Given the description of an element on the screen output the (x, y) to click on. 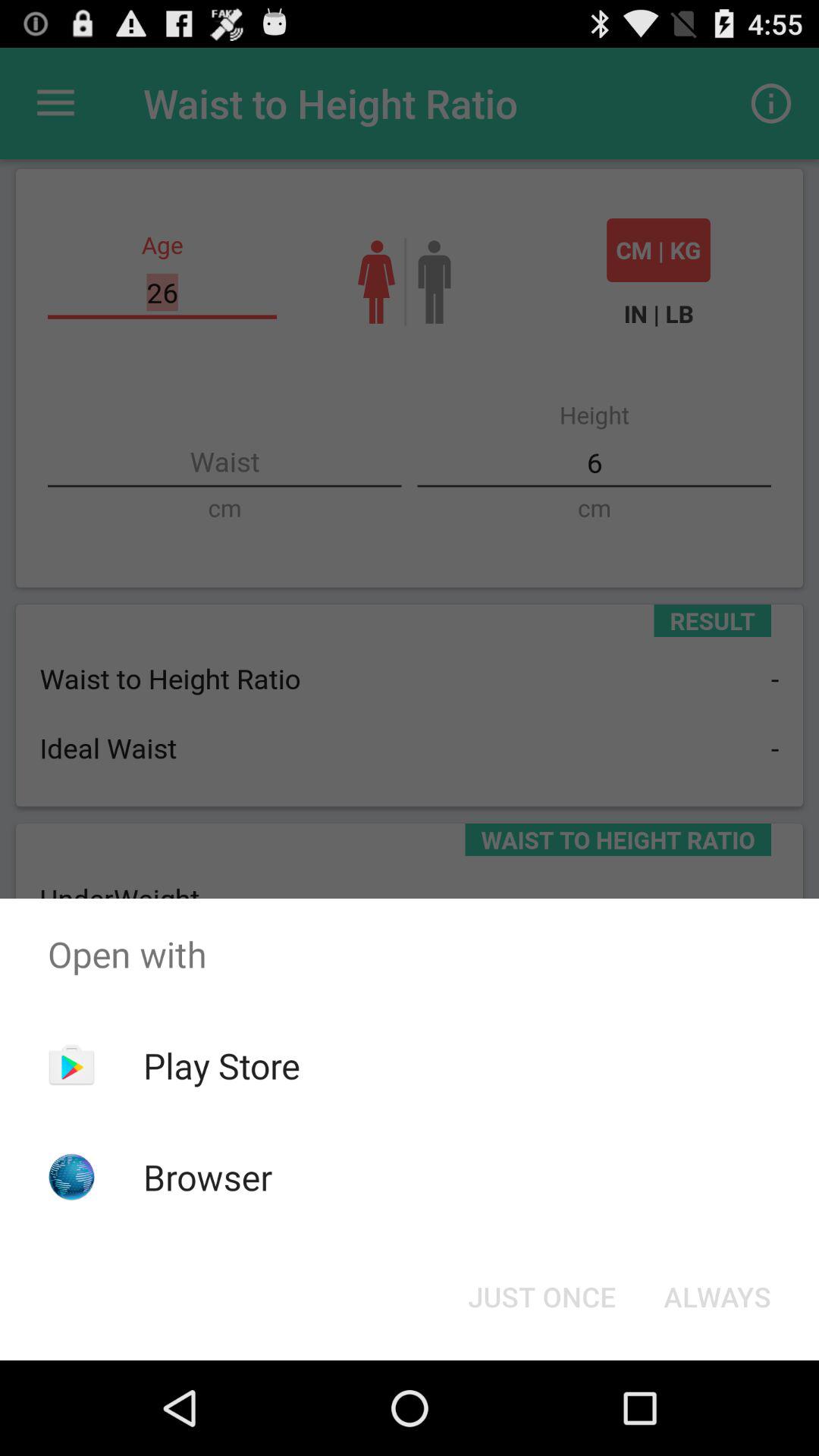
select icon to the right of just once item (717, 1296)
